Given the description of an element on the screen output the (x, y) to click on. 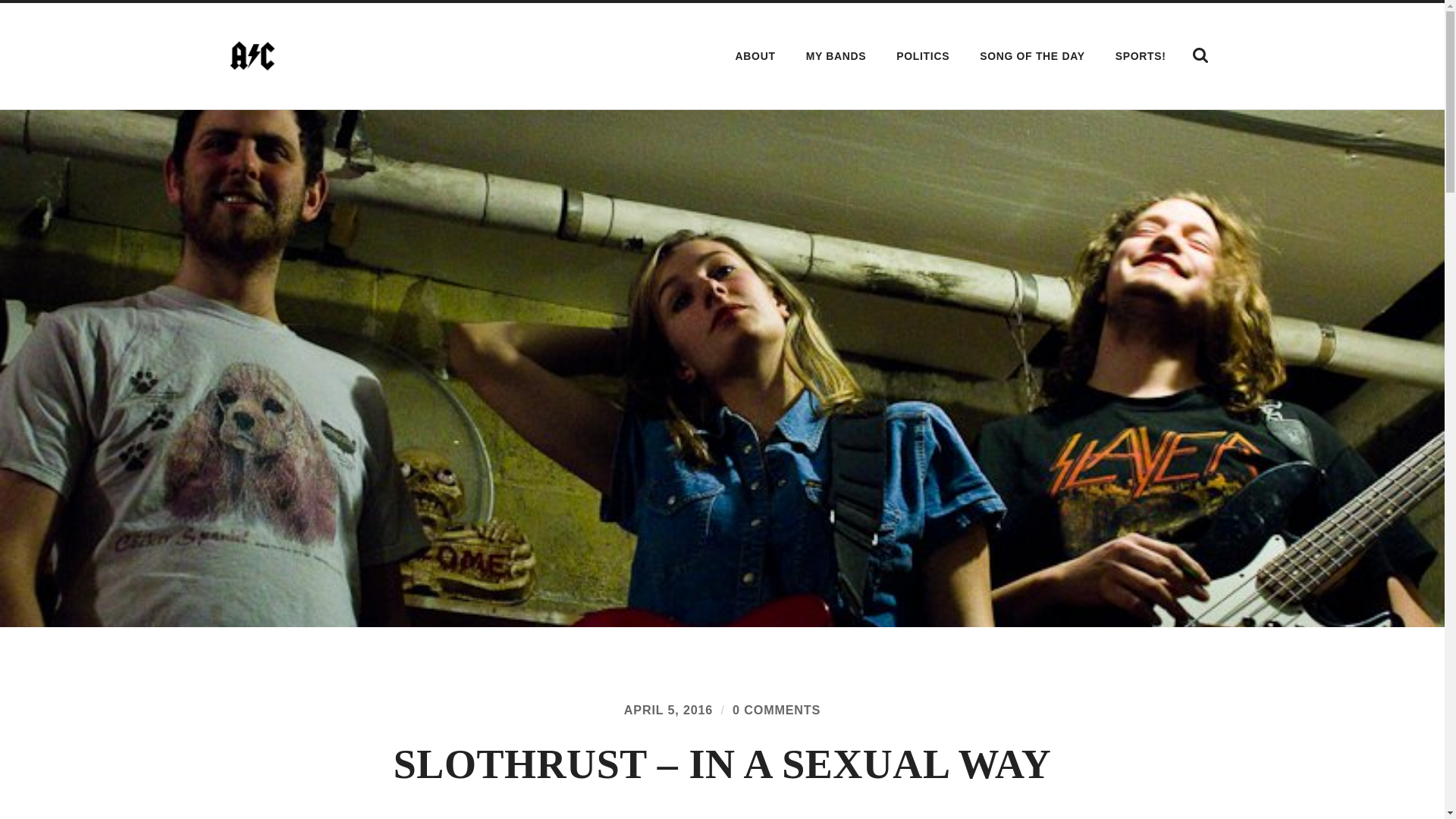
SONG OF THE DAY (1032, 56)
0 COMMENTS (776, 709)
SHOW THE SEARCH FIELD (1199, 55)
POLITICS (922, 56)
SPORTS! (1140, 56)
ABOUT (755, 56)
Action City (251, 55)
MY BANDS (835, 56)
APRIL 5, 2016 (668, 709)
